Given the description of an element on the screen output the (x, y) to click on. 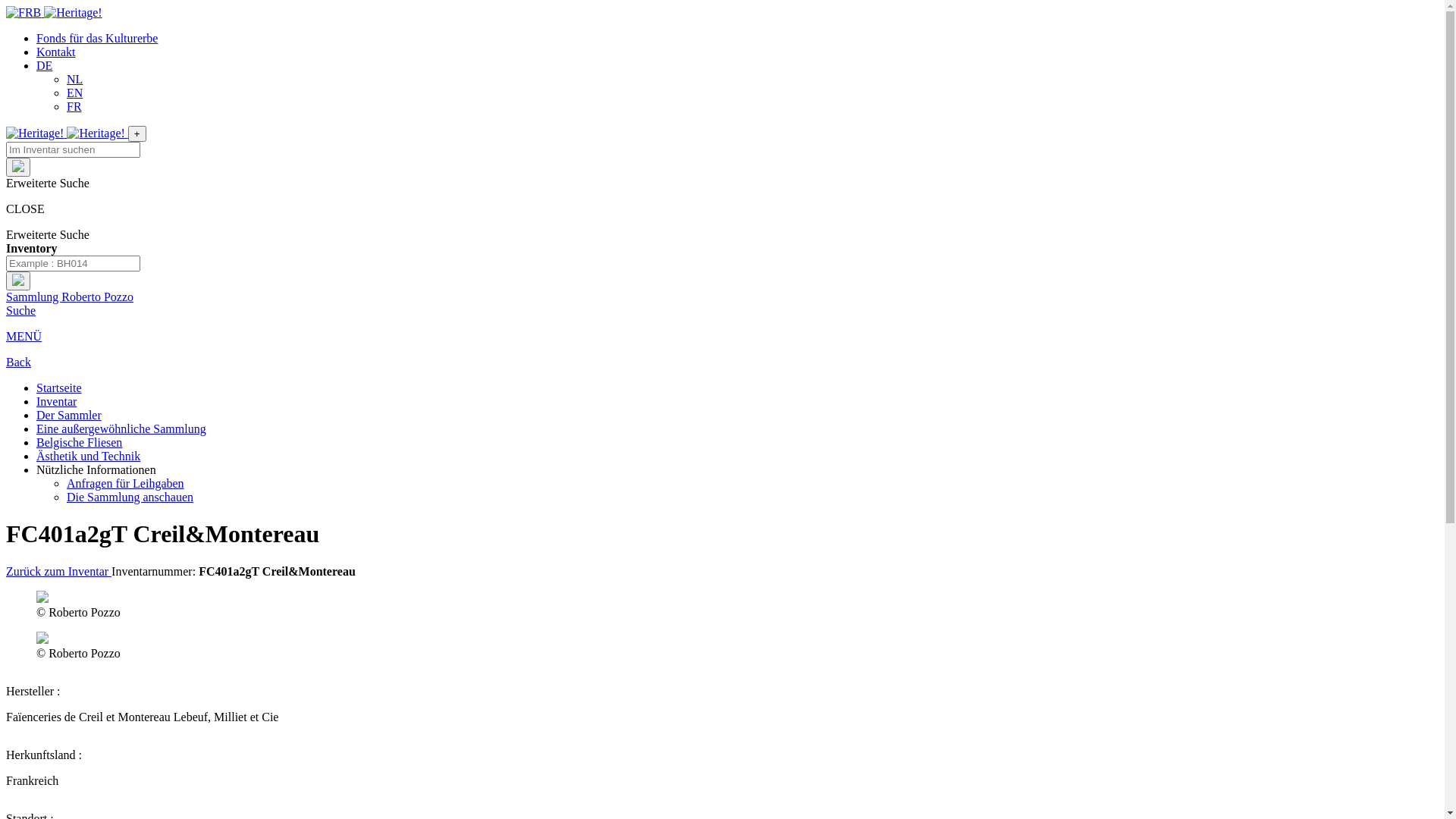
Belgische Fliesen Element type: text (79, 442)
FR Element type: text (73, 106)
Inventar Element type: text (56, 401)
Der Sammler Element type: text (68, 414)
DE Element type: text (44, 65)
NL Element type: text (74, 78)
Sammlung Roberto Pozzo Element type: text (69, 296)
Die Sammlung anschauen Element type: text (129, 496)
Kontakt Element type: text (55, 51)
+ Element type: text (137, 133)
Startseite Element type: text (58, 387)
Suche Element type: text (20, 310)
EN Element type: text (74, 92)
